Given the description of an element on the screen output the (x, y) to click on. 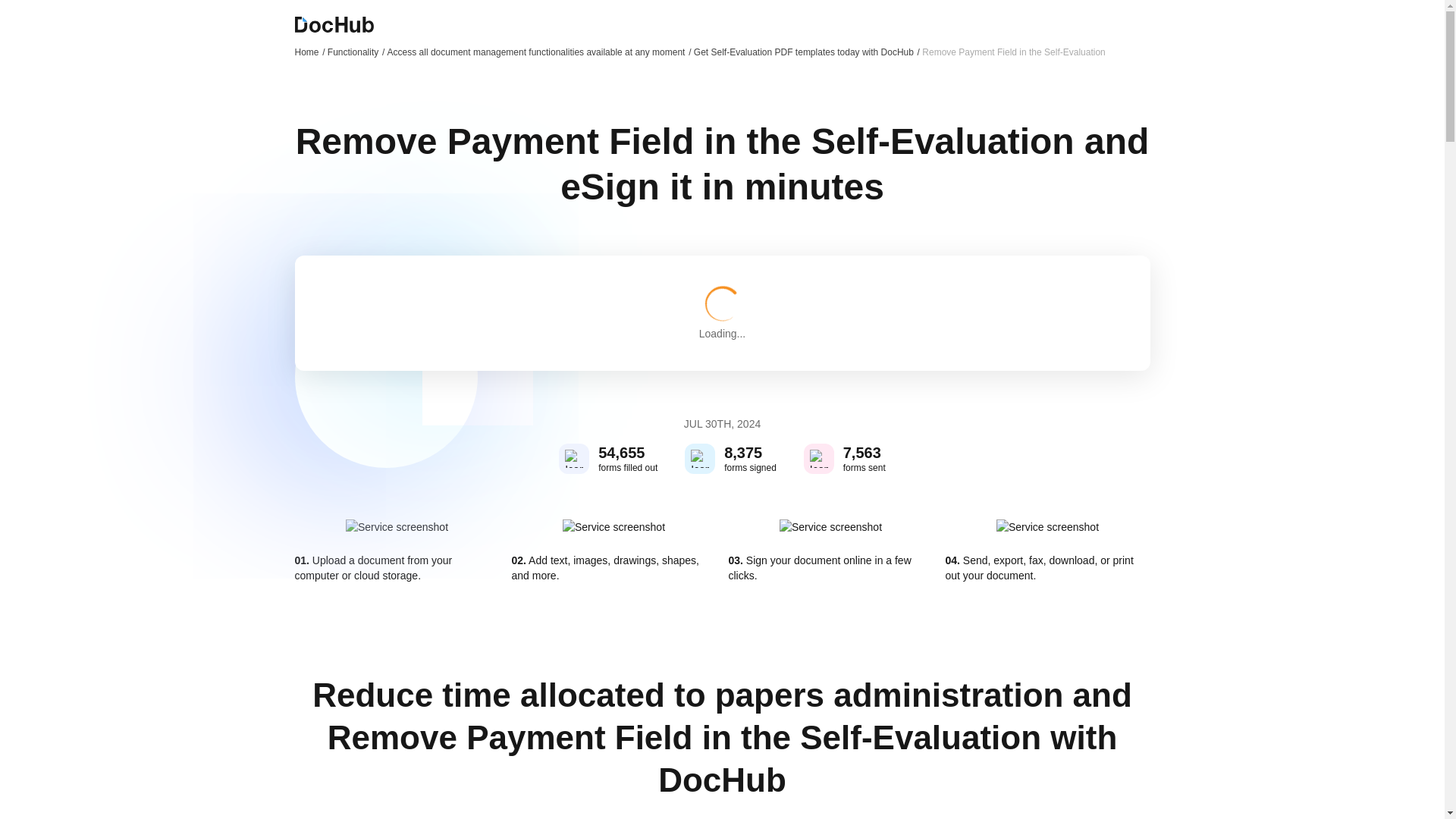
Get Self-Evaluation PDF templates today with DocHub (807, 51)
Home (309, 51)
Functionality (355, 51)
